Given the description of an element on the screen output the (x, y) to click on. 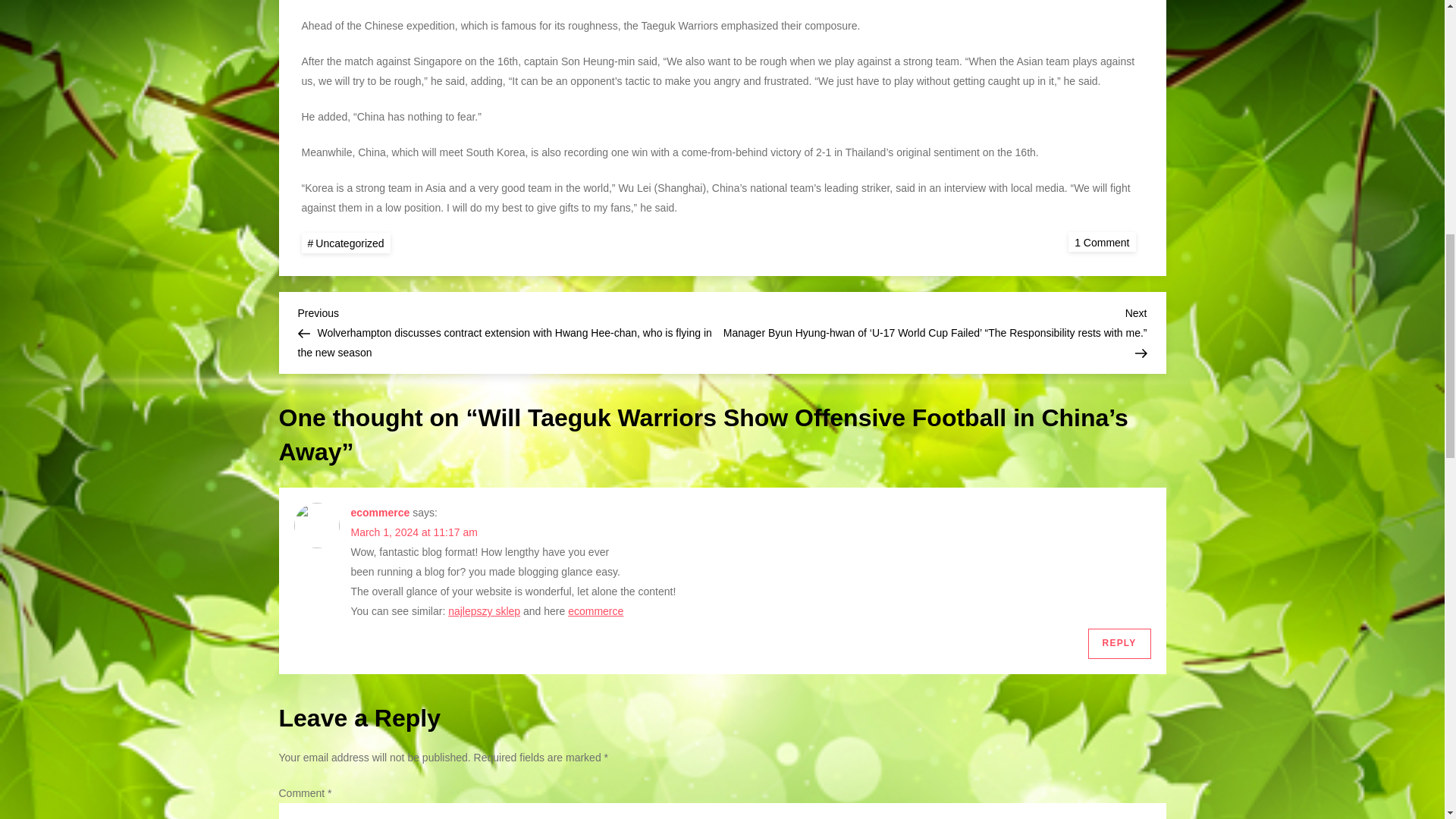
March 1, 2024 at 11:17 am (413, 532)
ecommerce (595, 611)
najlepszy sklep (483, 611)
REPLY (1119, 643)
Uncategorized (345, 242)
ecommerce (379, 512)
